Given the description of an element on the screen output the (x, y) to click on. 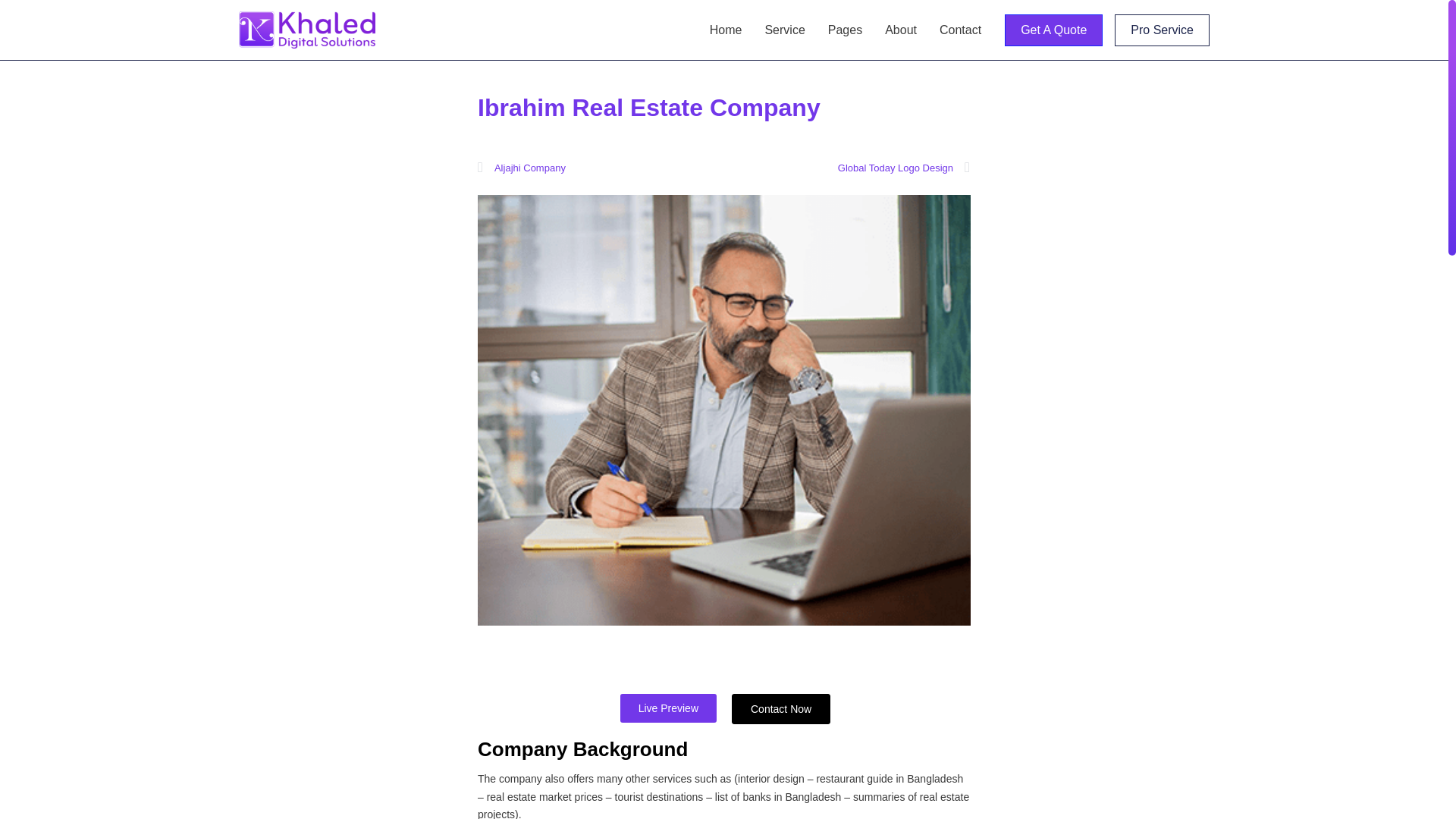
Pages (844, 29)
About (900, 29)
Get A Quote (1053, 29)
Aljajhi Company (600, 168)
Pro Service (1162, 29)
Contact (960, 29)
Live Preview (668, 707)
Global Today Logo Design (846, 168)
Home (726, 29)
Contact Now (780, 708)
